Given the description of an element on the screen output the (x, y) to click on. 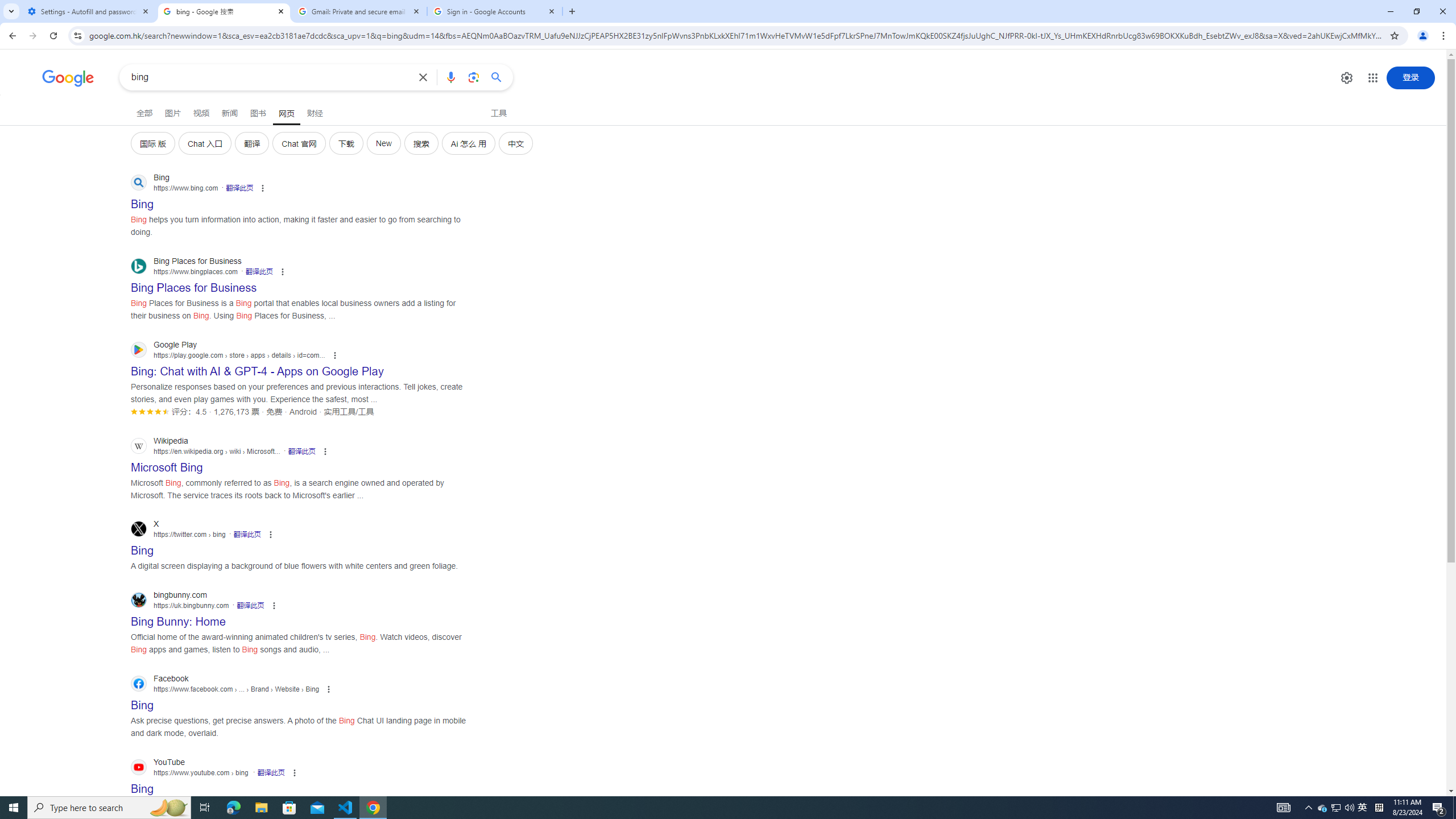
 Bing Bing https://www.bing.com (142, 200)
